Given the description of an element on the screen output the (x, y) to click on. 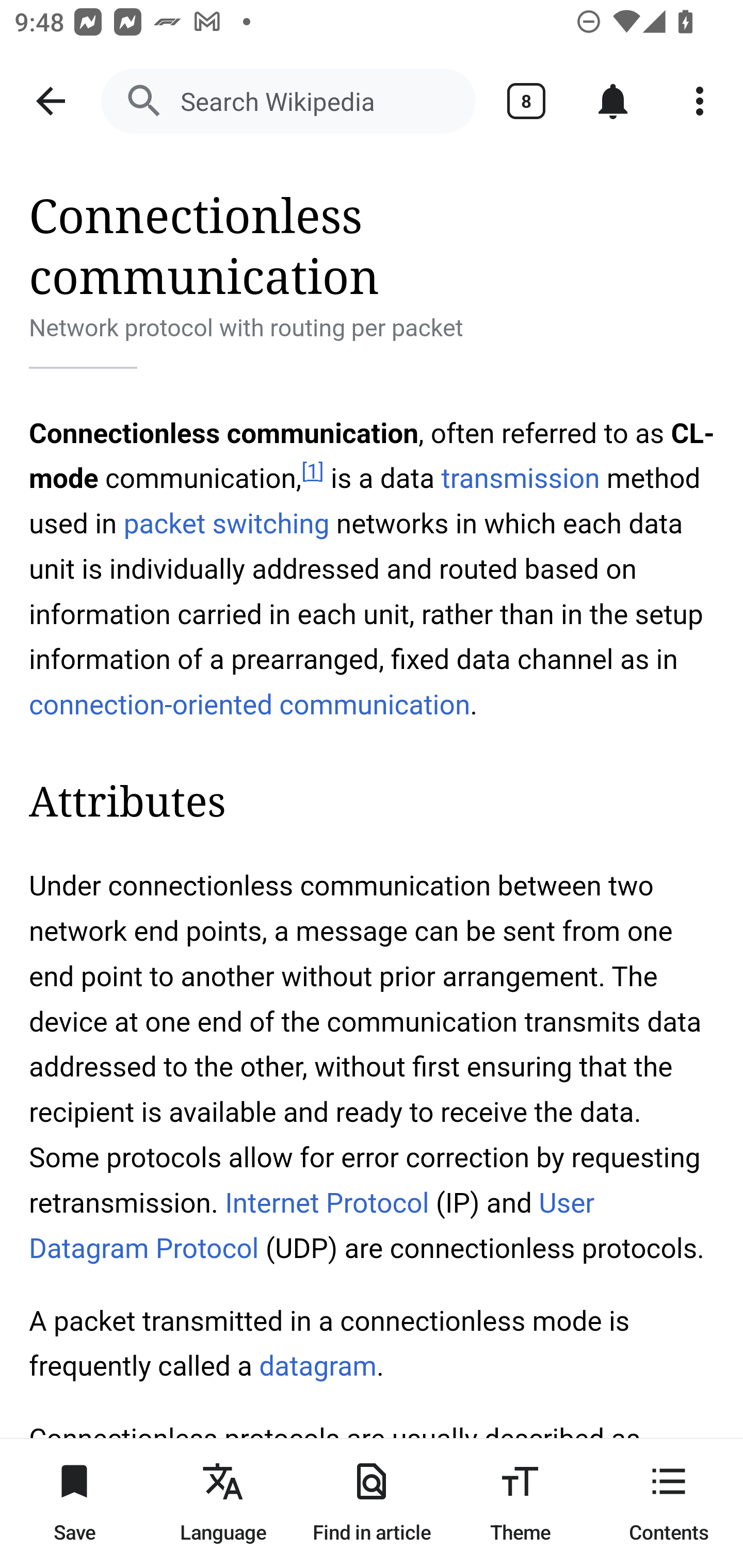
Show tabs 8 (525, 100)
Notifications (612, 100)
Navigate up (50, 101)
More options (699, 101)
Search Wikipedia (288, 100)
[] [ 1 ] (312, 471)
transmission (520, 478)
packet switching (225, 523)
connection-oriented communication (249, 704)
User Datagram Protocol (311, 1225)
Internet Protocol (326, 1202)
datagram (317, 1367)
Save (74, 1502)
Language (222, 1502)
Find in article (371, 1502)
Theme (519, 1502)
Contents (668, 1502)
